Given the description of an element on the screen output the (x, y) to click on. 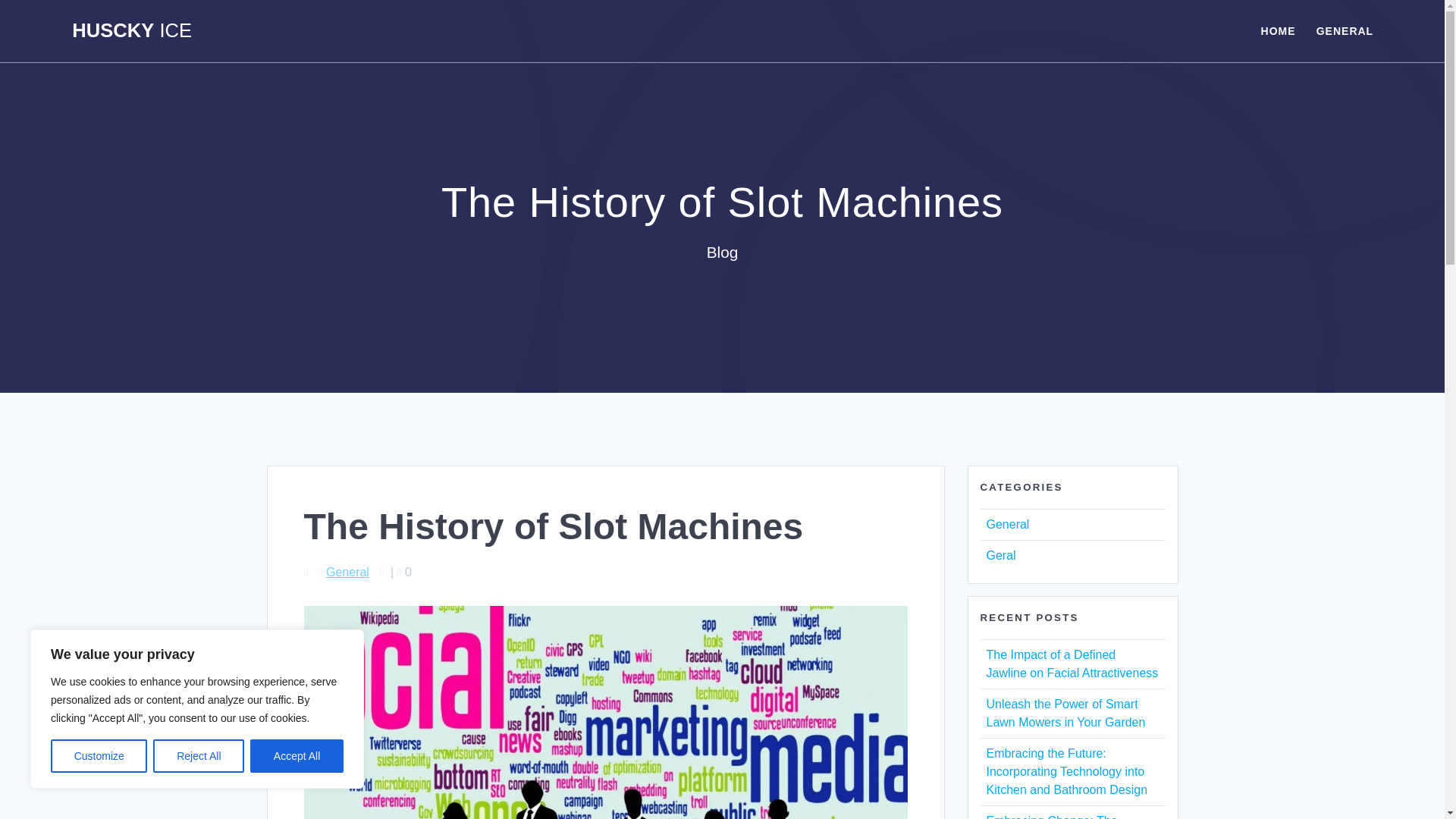
Reject All (198, 756)
Geral (999, 554)
General (1007, 523)
Accept All (296, 756)
Unleash the Power of Smart Lawn Mowers in Your Garden (1064, 712)
Customize (98, 756)
HUSCKY ICE (131, 30)
The Impact of a Defined Jawline on Facial Attractiveness (1071, 663)
GENERAL (1344, 30)
General (347, 571)
HOME (1277, 30)
